Given the description of an element on the screen output the (x, y) to click on. 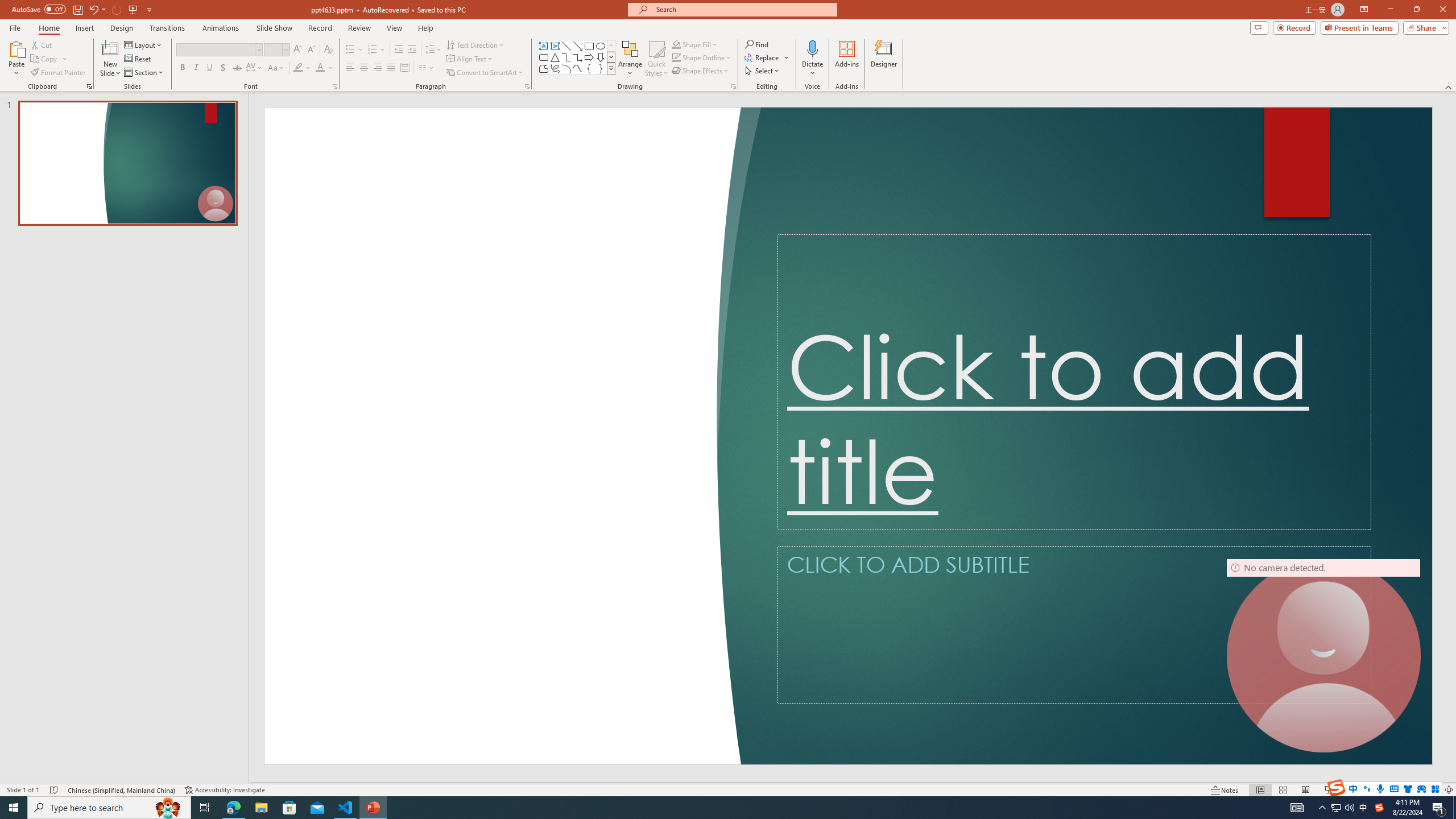
Clear Formatting (327, 49)
Line Arrow (577, 45)
Select (762, 69)
Rectangle: Rounded Corners (543, 57)
Font... (334, 85)
Italic (195, 67)
Convert to SmartArt (485, 72)
Increase Indent (412, 49)
